Given the description of an element on the screen output the (x, y) to click on. 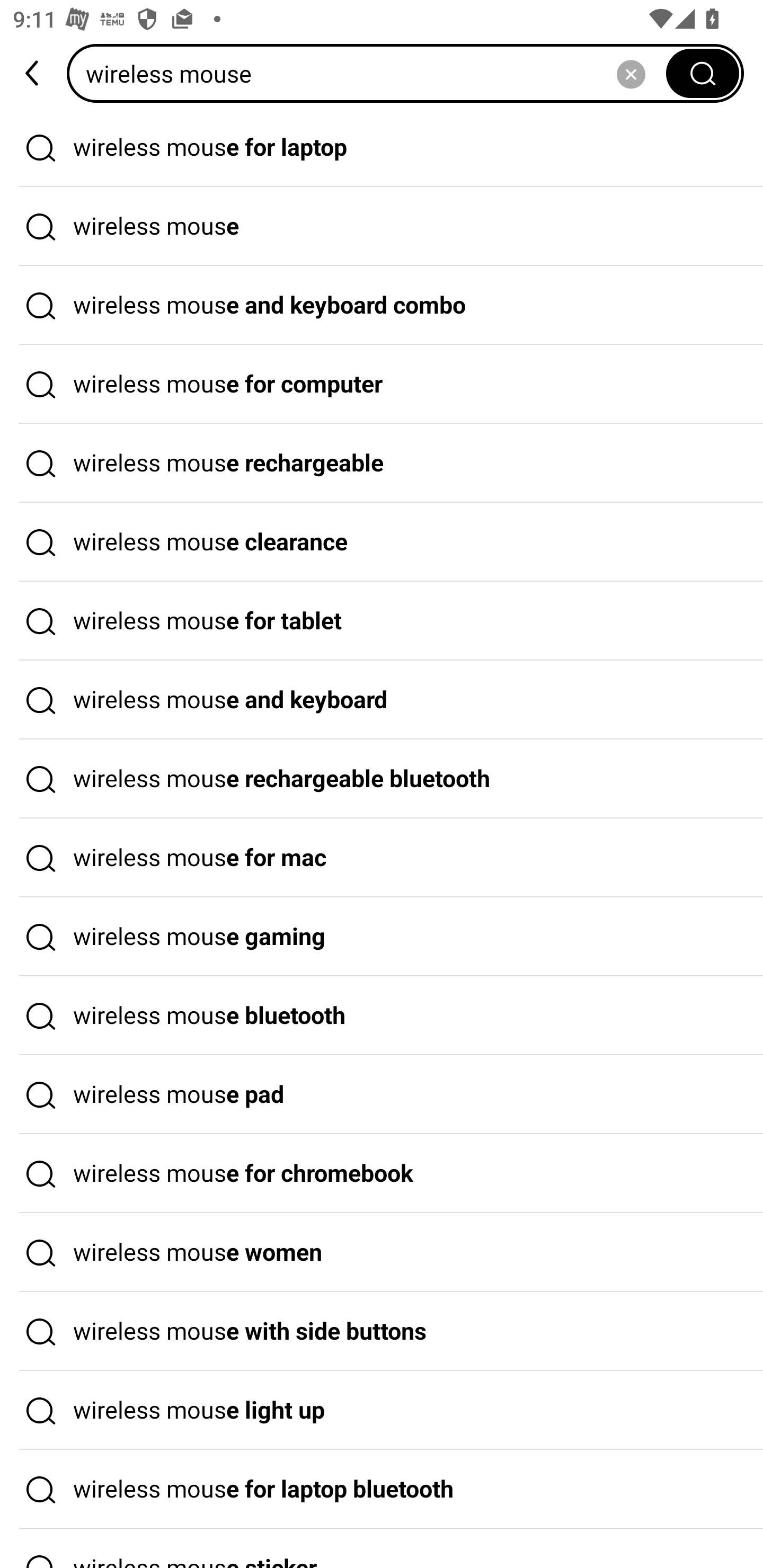
back (33, 72)
wireless mouse (372, 73)
Delete search history (630, 73)
wireless mouse for laptop (381, 147)
wireless mouse (381, 226)
wireless mouse and keyboard combo (381, 305)
wireless mouse for computer (381, 383)
wireless mouse rechargeable (381, 463)
wireless mouse clearance (381, 542)
wireless mouse for tablet (381, 620)
wireless mouse and keyboard (381, 700)
wireless mouse rechargeable bluetooth (381, 779)
wireless mouse for mac (381, 857)
wireless mouse gaming (381, 936)
wireless mouse bluetooth (381, 1015)
wireless mouse pad (381, 1094)
wireless mouse for chromebook (381, 1173)
wireless mouse women (381, 1252)
wireless mouse with side buttons (381, 1331)
wireless mouse light up (381, 1410)
wireless mouse for laptop bluetooth (381, 1489)
